Given the description of an element on the screen output the (x, y) to click on. 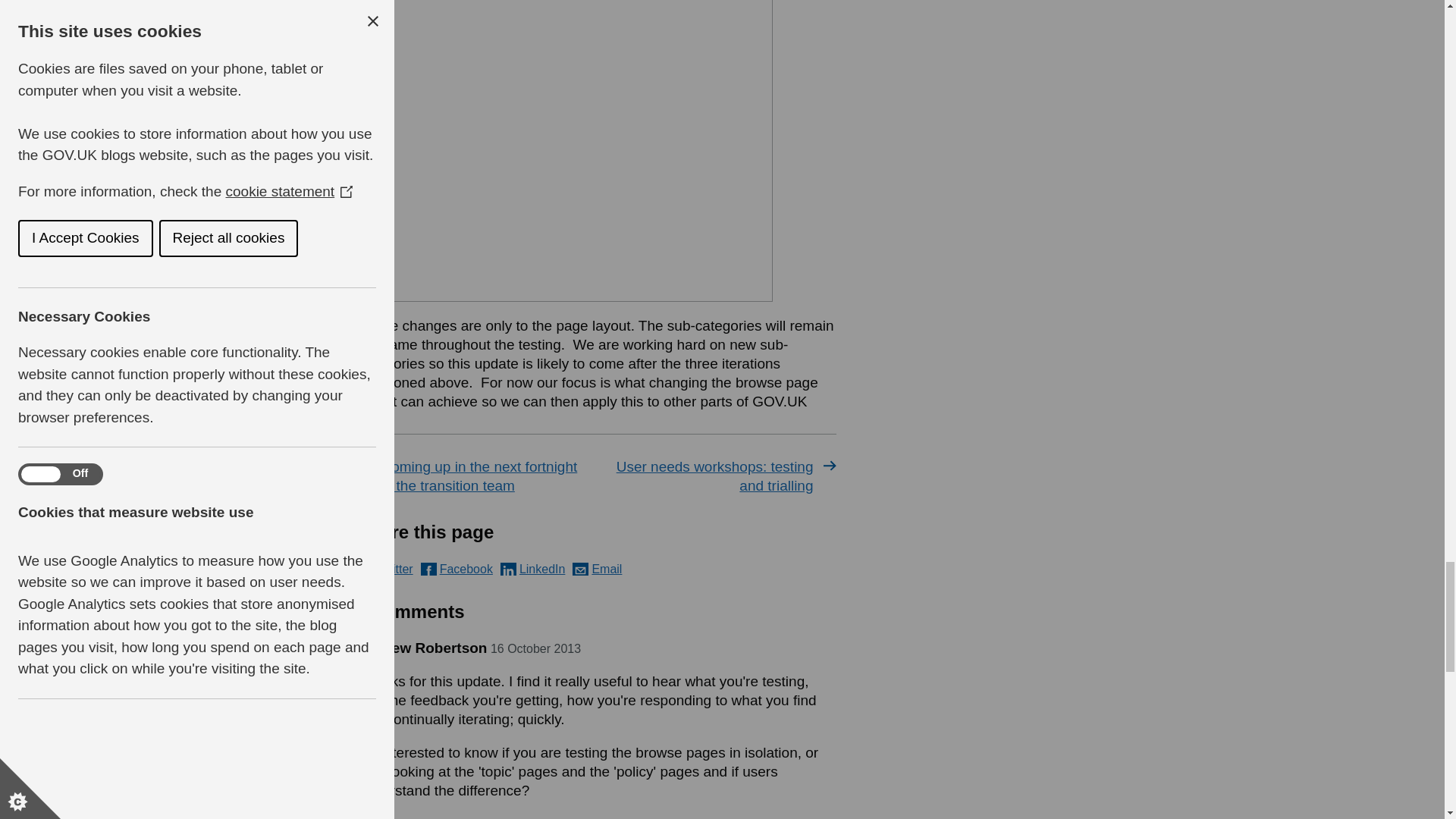
Twitter (385, 568)
Email (596, 568)
Facebook (456, 568)
User needs workshops: testing and trialling (718, 476)
LinkedIn (533, 568)
Coming up in the next fortnight in the transition team (475, 476)
